Given the description of an element on the screen output the (x, y) to click on. 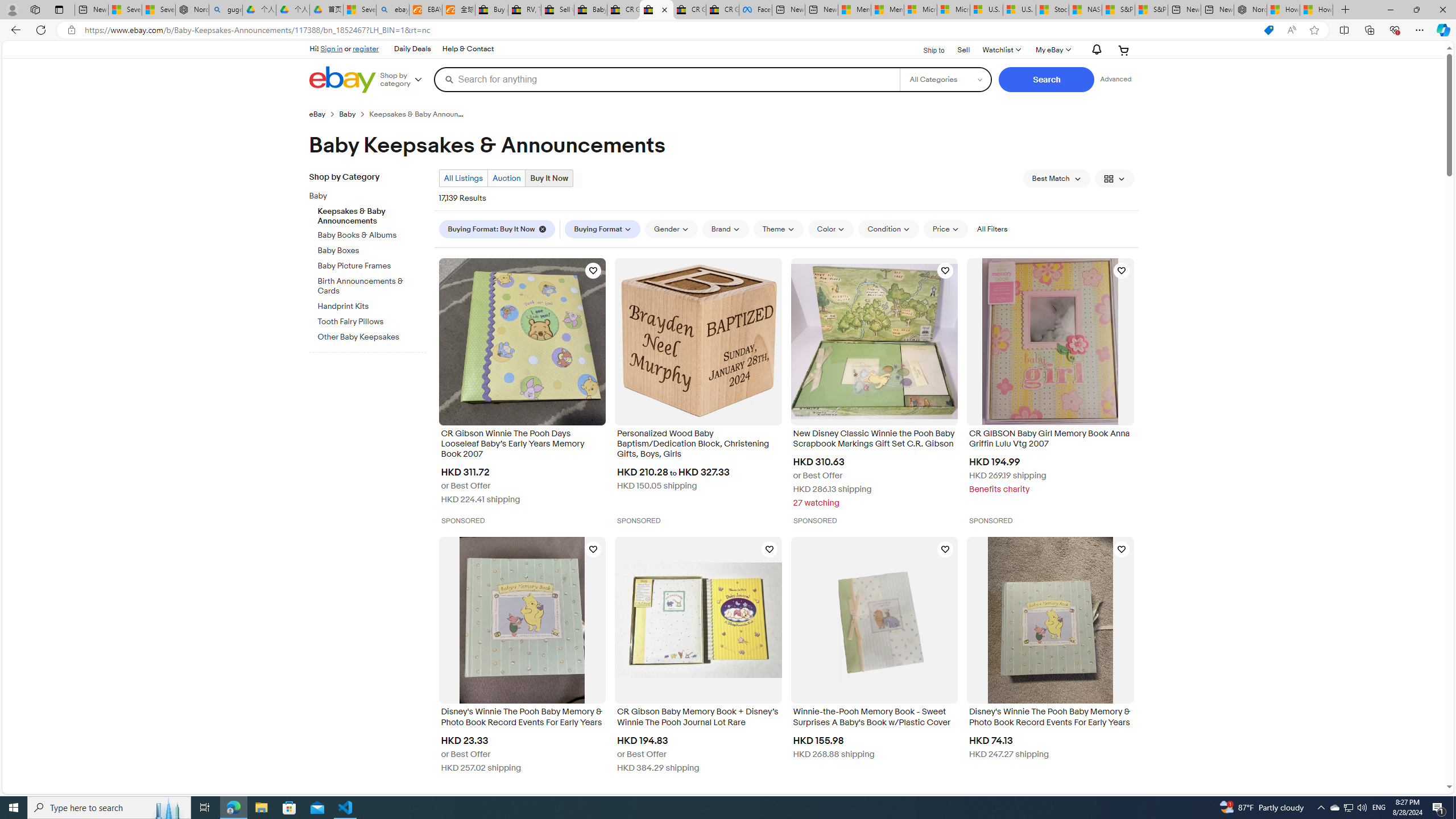
Buying Format: Buy It Now- Remove Filter (499, 229)
Auction (505, 177)
Ship to (926, 50)
Help & Contact (467, 49)
Buying Format: Buy It Now - Remove Filter (497, 229)
